Given the description of an element on the screen output the (x, y) to click on. 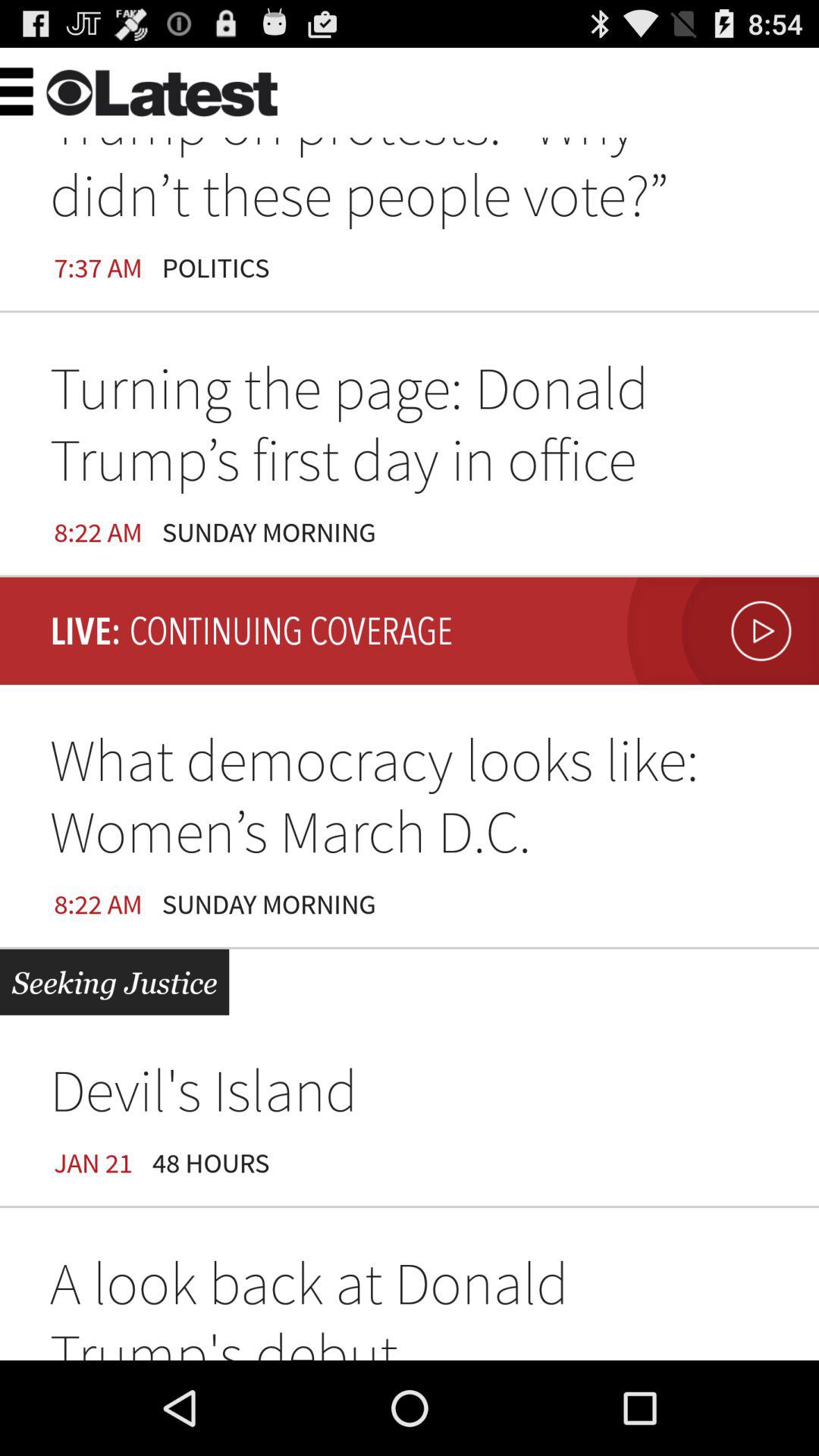
tap the turning the page app (409, 429)
